Given the description of an element on the screen output the (x, y) to click on. 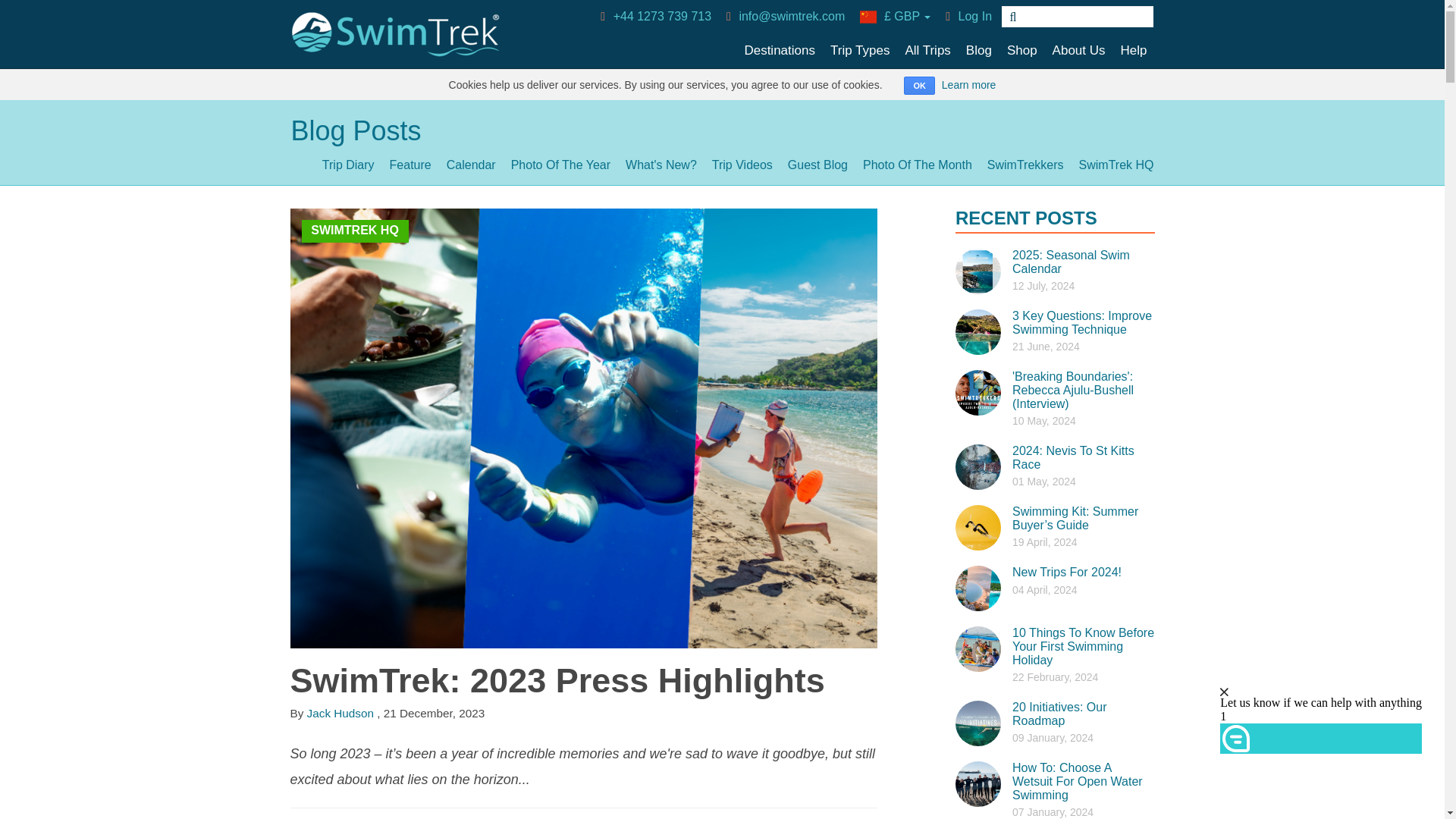
Destinations (779, 50)
Learn more (968, 84)
Front Chat (1318, 695)
Log In (967, 16)
OK (919, 85)
